Given the description of an element on the screen output the (x, y) to click on. 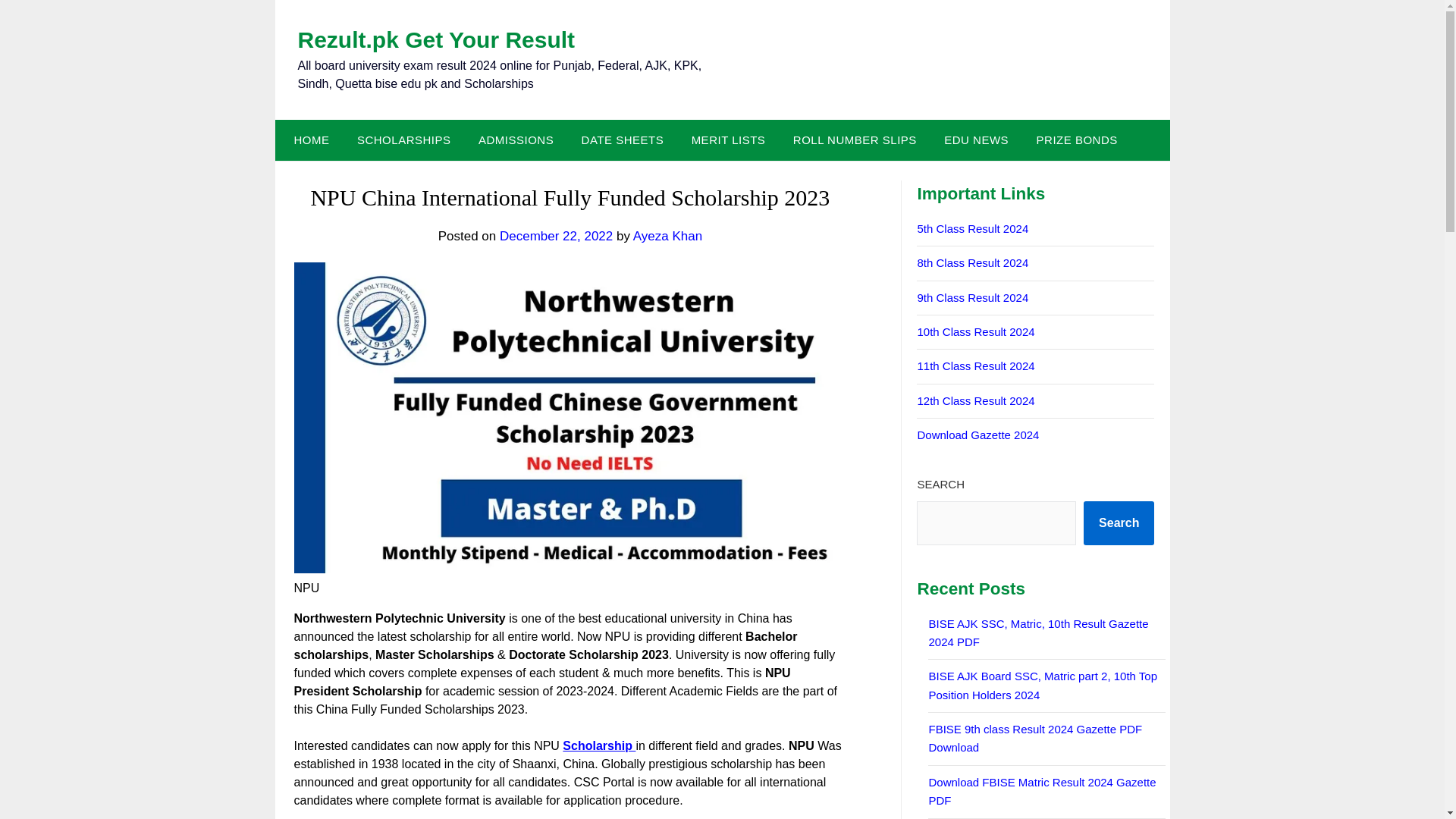
8th Class Result 2024 (972, 262)
MERIT LISTS (728, 139)
Middle, Grade 8 Result 2024 (972, 262)
Ayeza Khan (667, 236)
Matric, SSC part 2 Result 2024 (975, 331)
ROLL NUMBER SLIPS (854, 139)
FBISE 9th class Result 2024 Gazette PDF Download (1034, 737)
Inter, HSSC part 2, 2nd Year Result 2024 (975, 400)
EDU NEWS (975, 139)
Search (1118, 523)
